Given the description of an element on the screen output the (x, y) to click on. 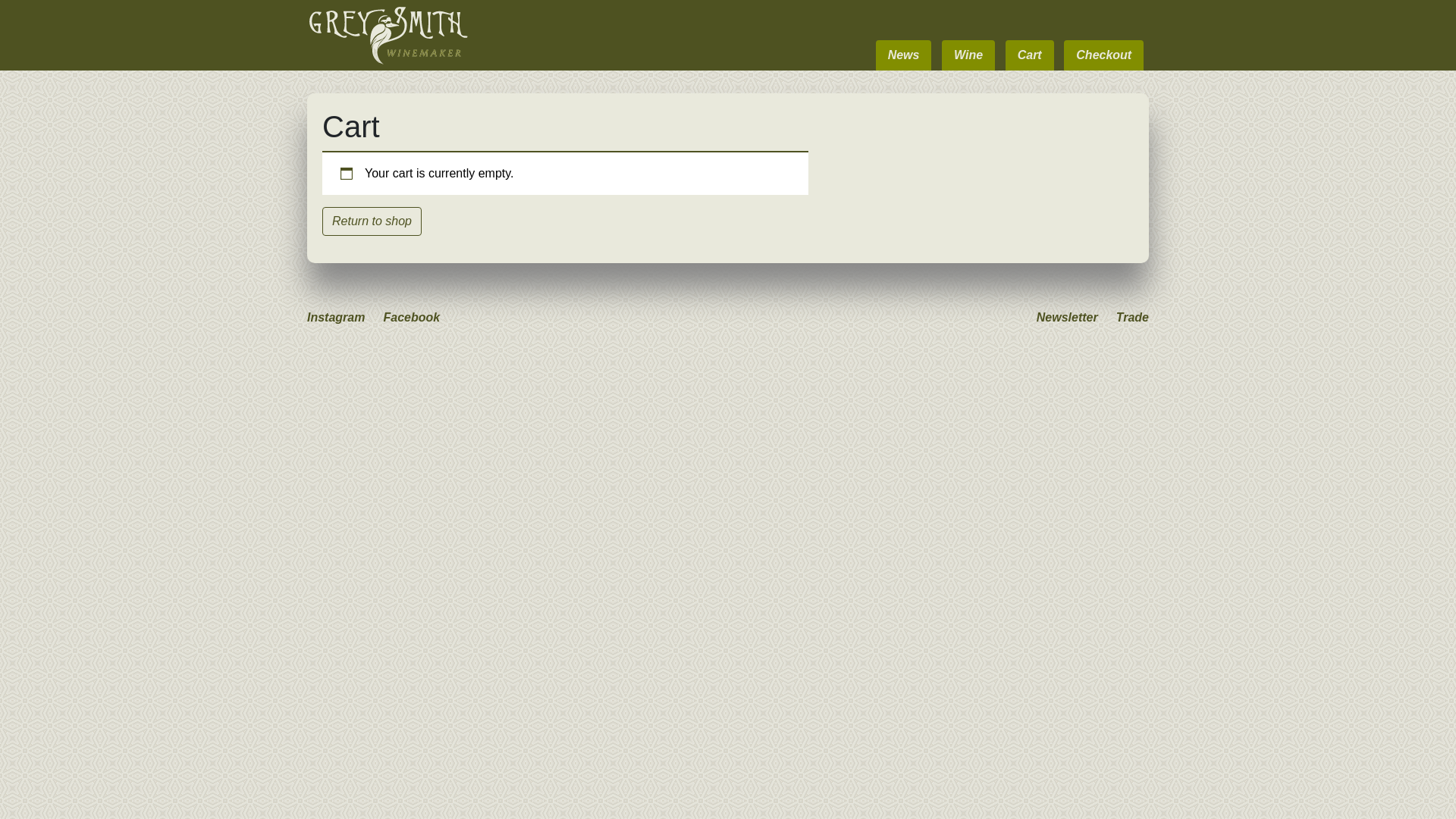
Grey-Smith Wines Element type: text (388, 35)
Return to shop Element type: text (371, 221)
Checkout Element type: text (1103, 55)
News Element type: text (903, 55)
Facebook Element type: text (410, 316)
Trade Element type: text (1132, 316)
Newsletter Element type: text (1067, 316)
Instagram Element type: text (335, 316)
Wine Element type: text (967, 55)
Cart Element type: text (1029, 55)
